Given the description of an element on the screen output the (x, y) to click on. 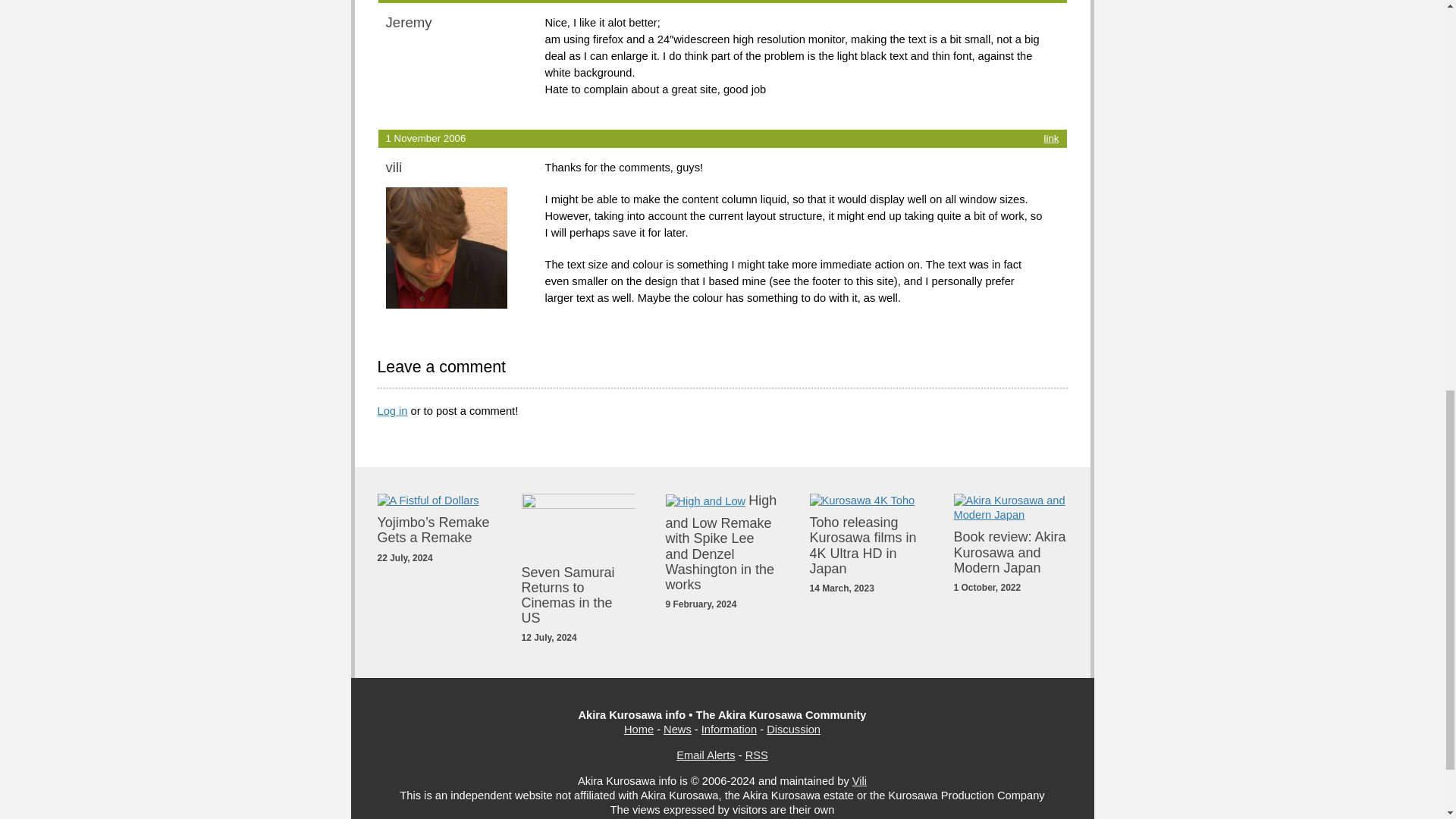
Discussion (794, 729)
Toho releasing Kurosawa films in 4K Ultra HD in Japan (863, 545)
link (1050, 138)
Home (638, 729)
Seven Samurai Returns to Cinemas in the US (567, 595)
Log in (392, 410)
Book review: Akira Kurosawa and Modern Japan (1009, 551)
Email Alerts (706, 755)
News (677, 729)
